Given the description of an element on the screen output the (x, y) to click on. 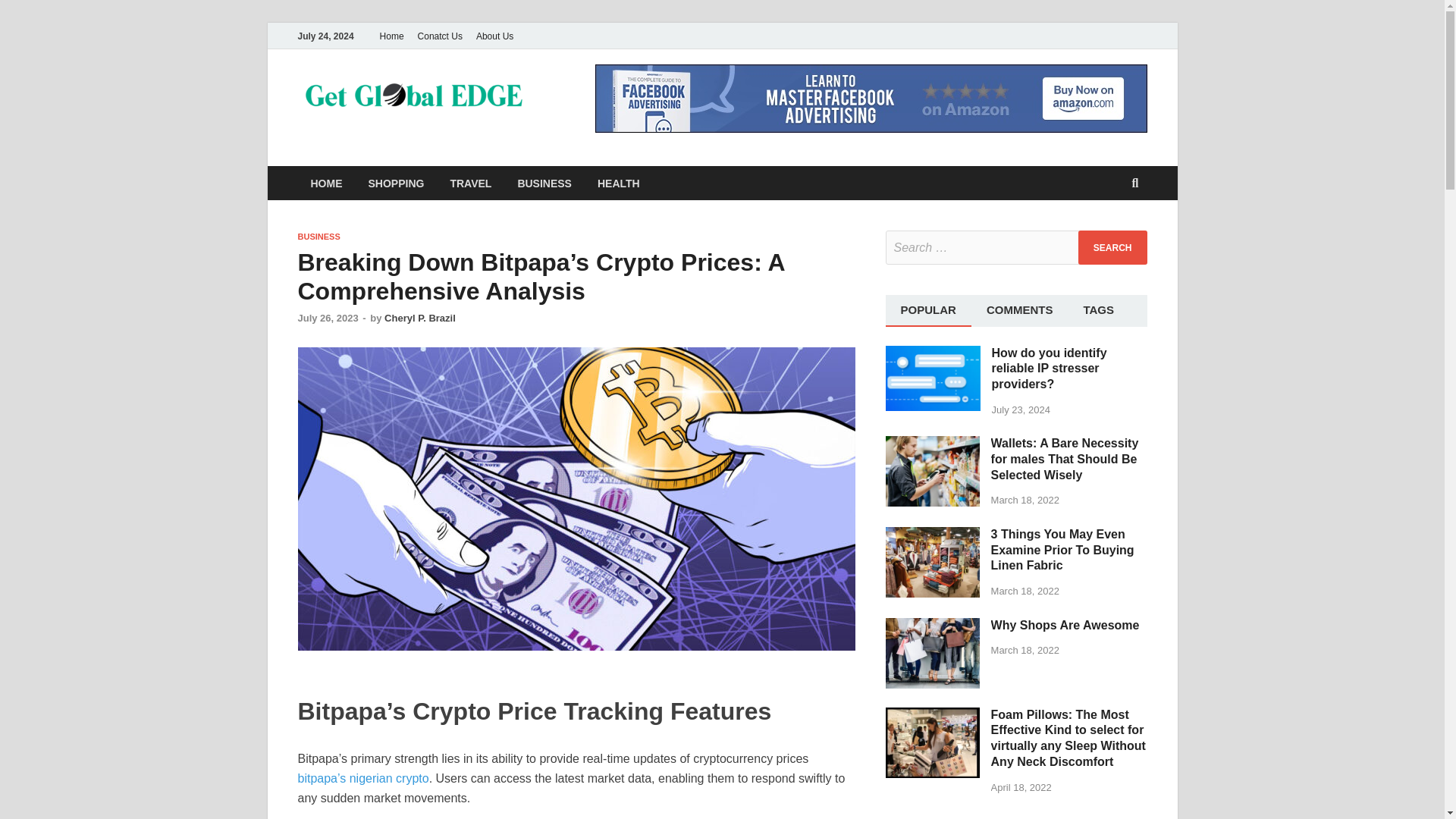
Get Global EDGE (651, 100)
Why Shops Are Awesome (932, 626)
BUSINESS (318, 235)
How do you identify reliable IP stresser providers? (932, 353)
July 26, 2023 (327, 317)
Conatct Us (439, 35)
POPULAR (928, 309)
TRAVEL (469, 182)
HEALTH (618, 182)
HOME (326, 182)
Home (391, 35)
Search (1112, 247)
COMMENTS (1019, 309)
SHOPPING (395, 182)
